Given the description of an element on the screen output the (x, y) to click on. 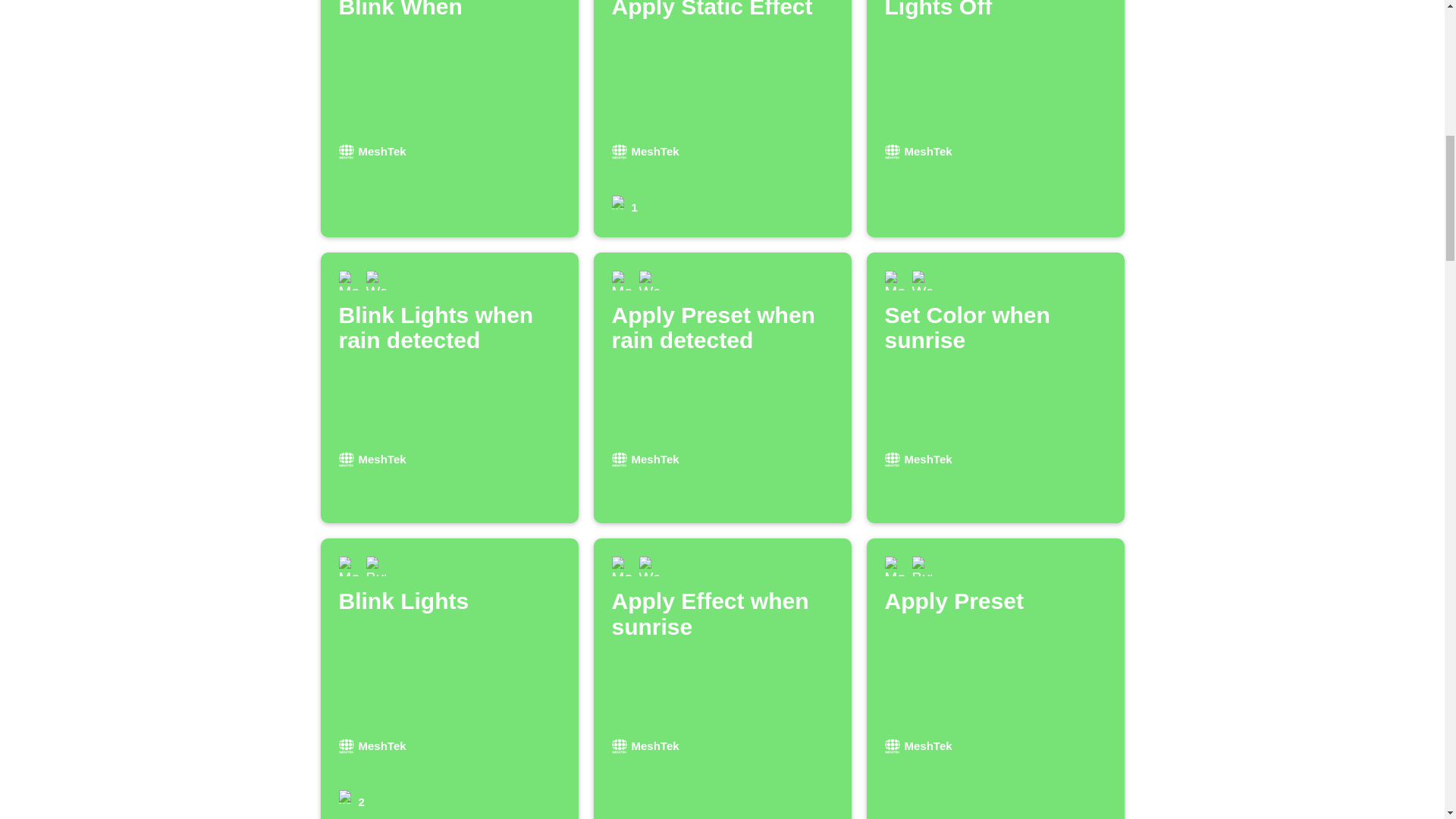
MeshTek (449, 388)
